Given the description of an element on the screen output the (x, y) to click on. 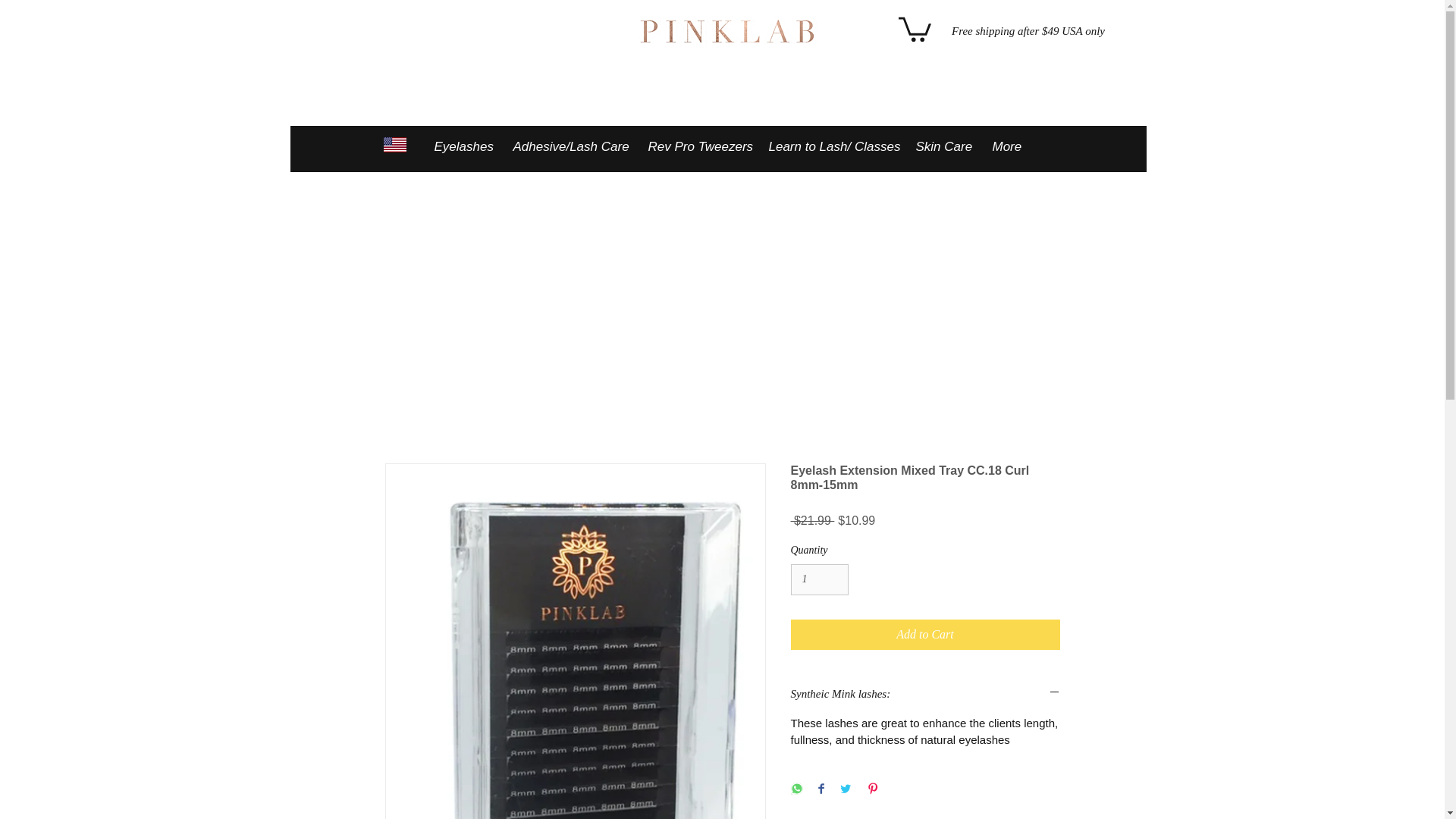
Add to Cart (924, 634)
Rev Pro Tweezers (697, 146)
1 (818, 579)
Skin Care (941, 146)
Eyelashes (462, 146)
Syntheic Mink lashes: (924, 693)
